Given the description of an element on the screen output the (x, y) to click on. 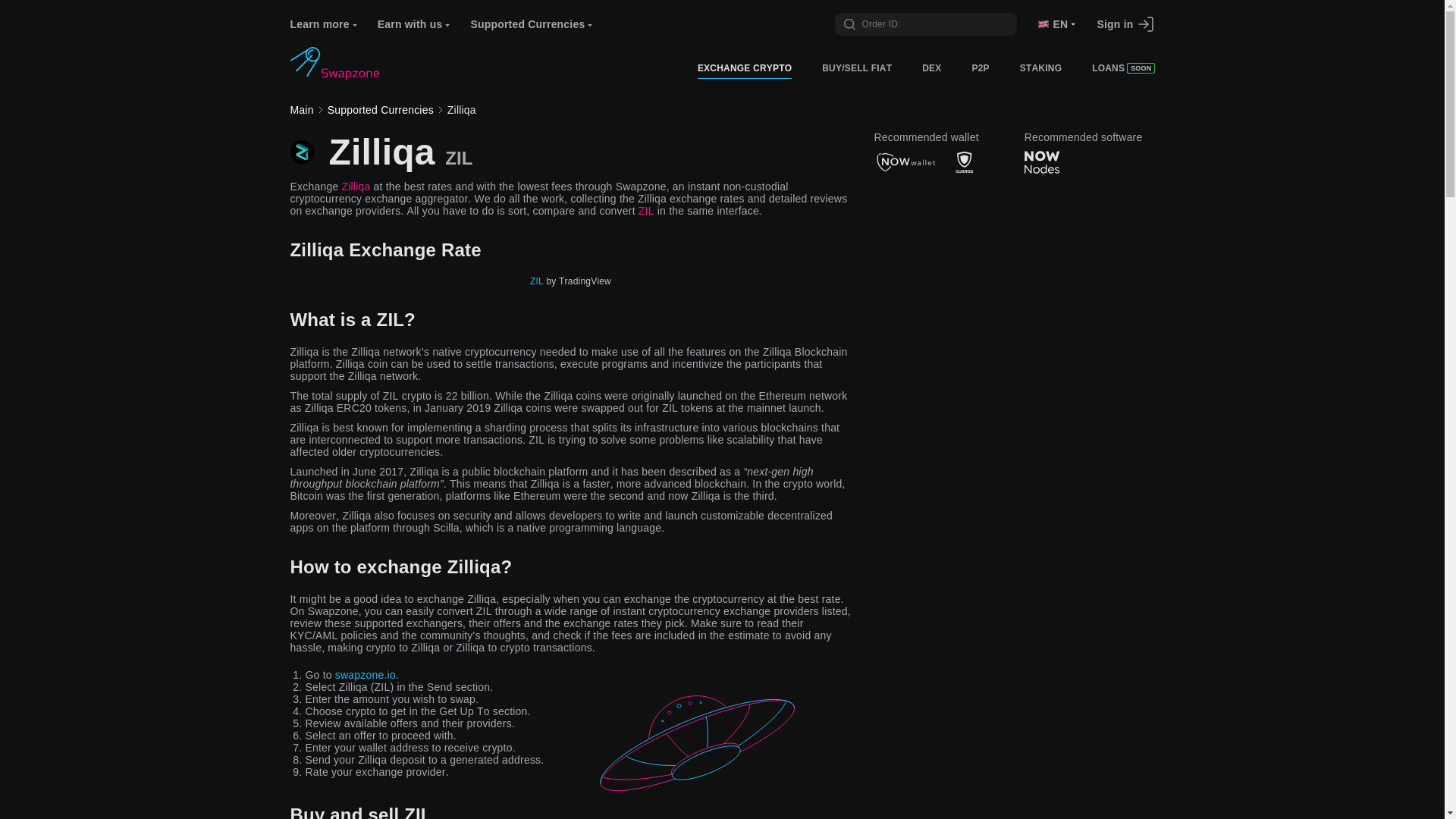
LOANS (1108, 67)
EXCHANGE CRYPTO (744, 67)
Sign in (1114, 24)
STAKING (1040, 67)
DEX (930, 67)
